Given the description of an element on the screen output the (x, y) to click on. 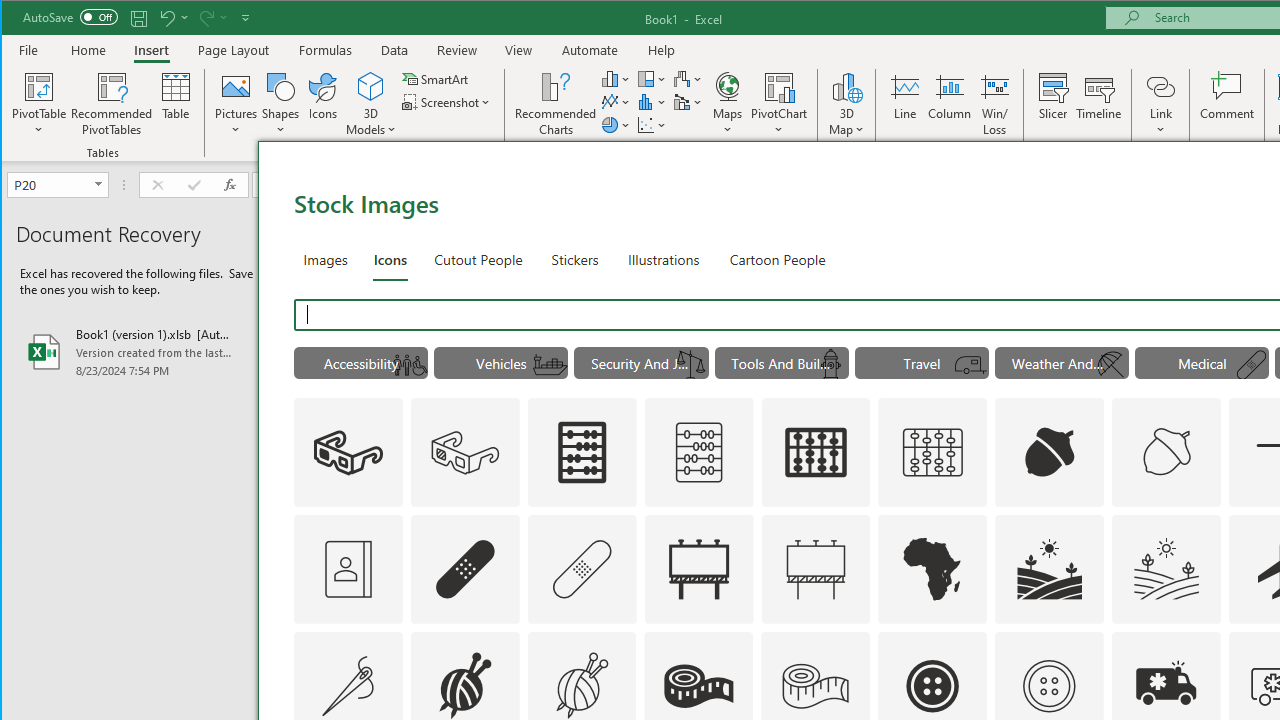
3D Models (371, 86)
